Given the description of an element on the screen output the (x, y) to click on. 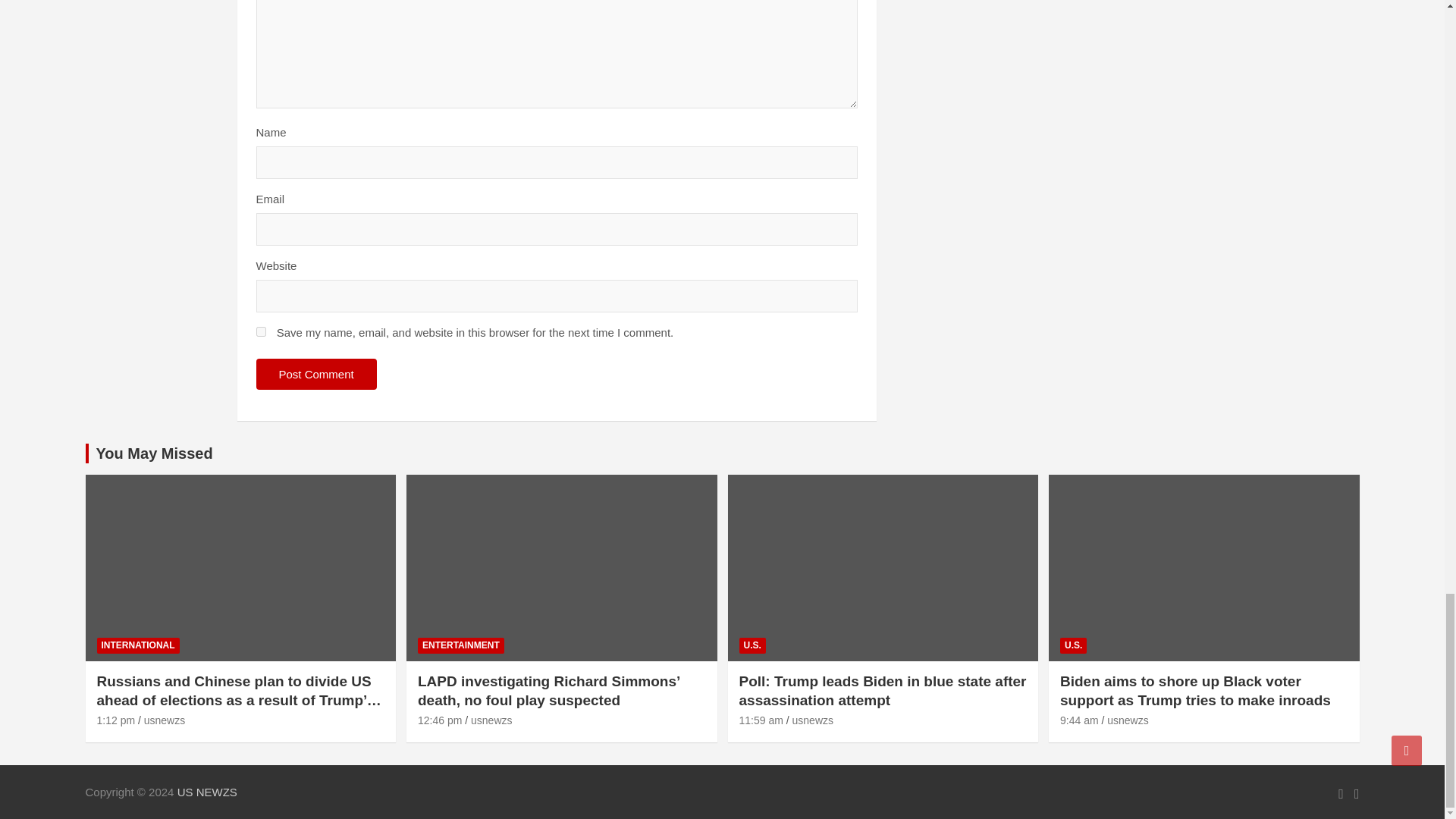
Post Comment (316, 373)
yes (261, 331)
US NEWZS (207, 791)
